Given the description of an element on the screen output the (x, y) to click on. 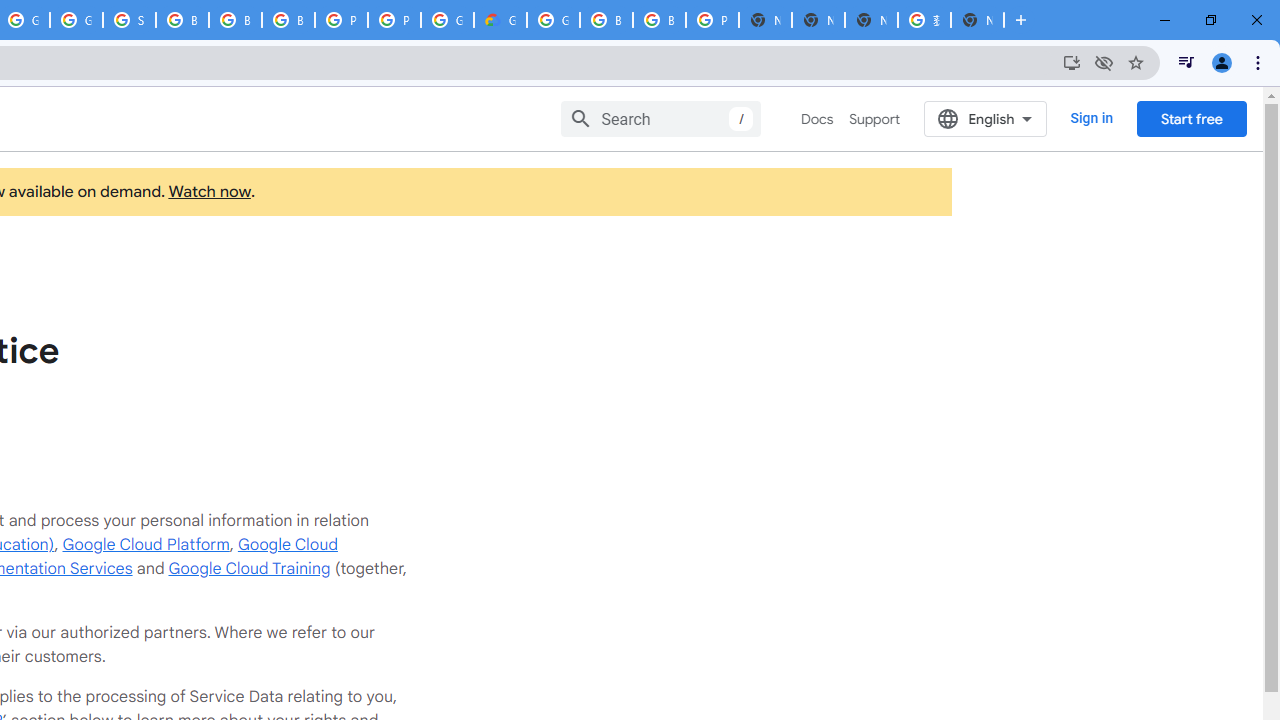
Docs (817, 119)
Google Cloud Platform (145, 544)
English (985, 118)
